Given the description of an element on the screen output the (x, y) to click on. 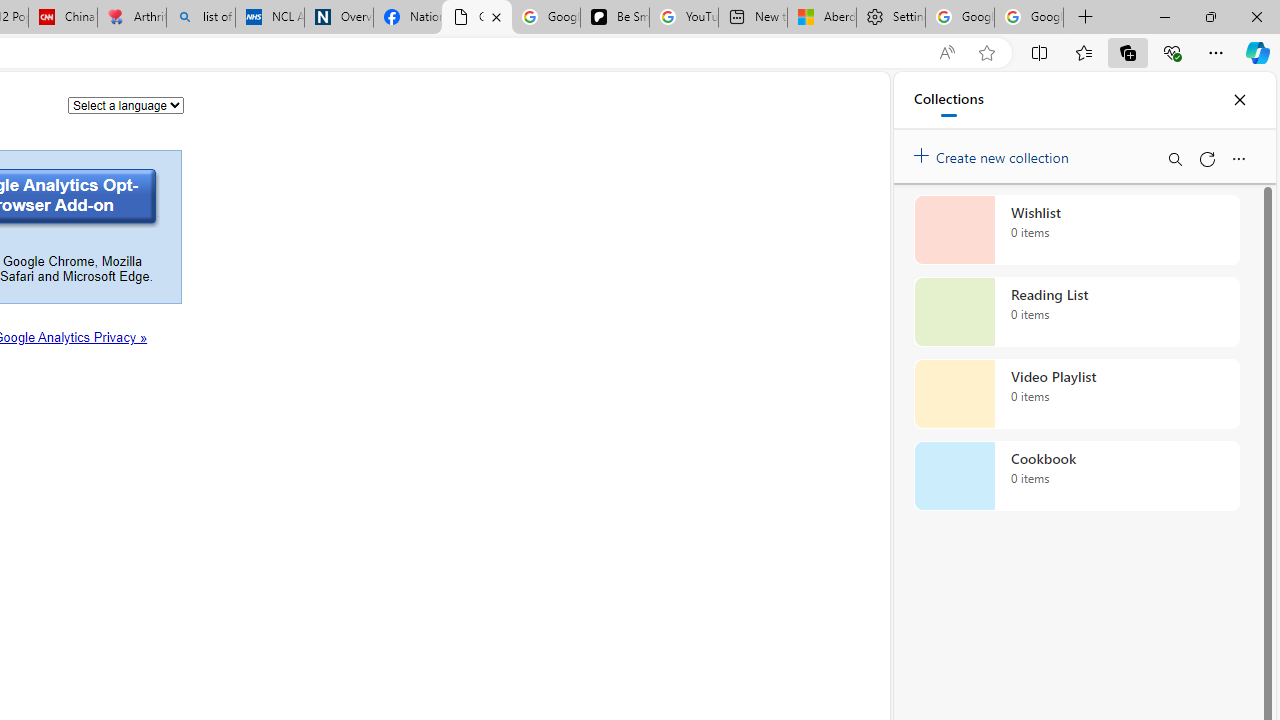
Be Smart | creating Science videos | Patreon (614, 17)
Create new collection (994, 153)
Language (125, 104)
list of asthma inhalers uk - Search (200, 17)
Cookbook collection, 0 items (1076, 475)
